Given the description of an element on the screen output the (x, y) to click on. 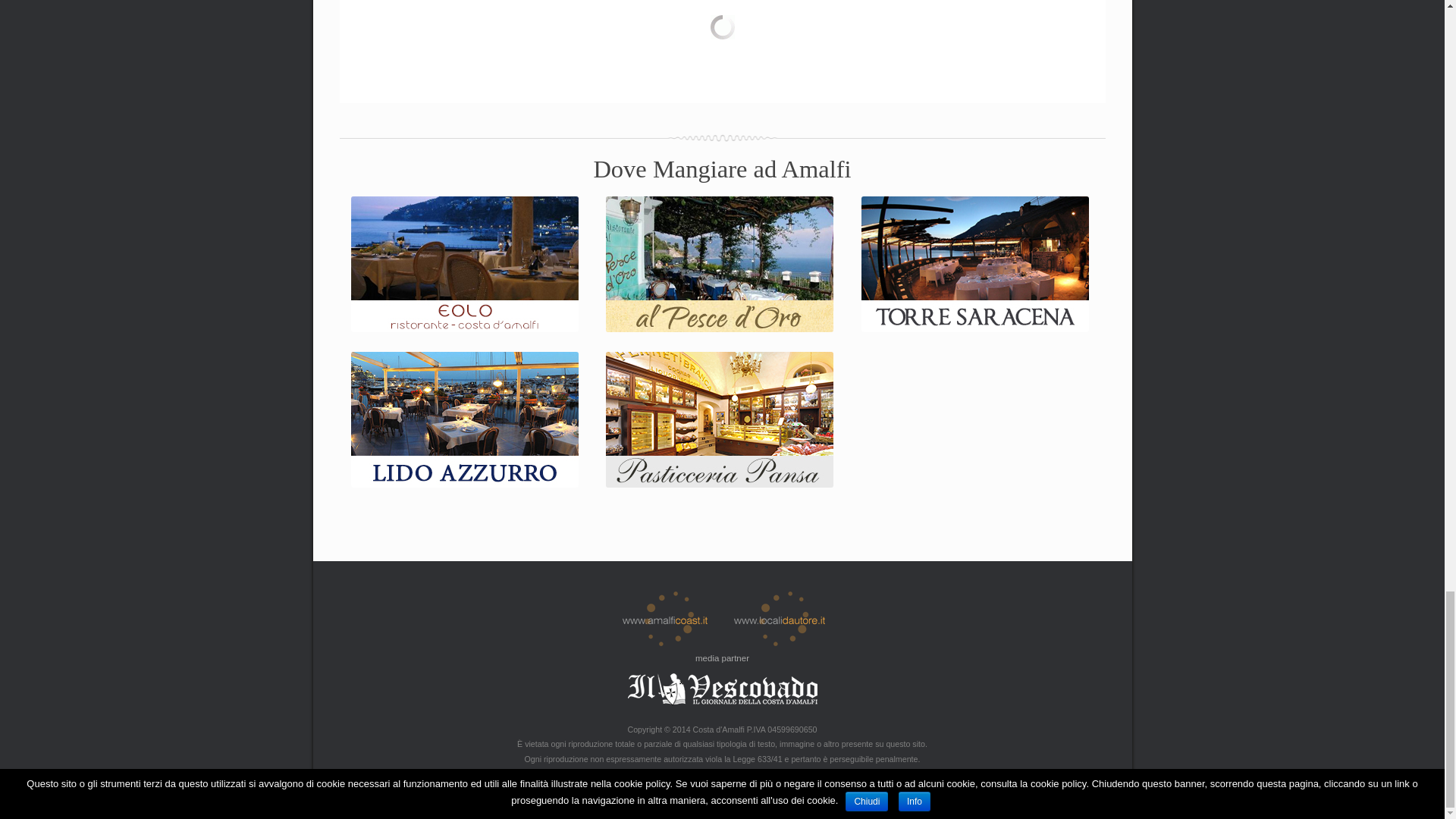
Pasticceria Pansa (718, 483)
Ristorante Lido Azzurro (464, 483)
Torre Saracena (975, 328)
Ristorante Eolo (464, 328)
